Given the description of an element on the screen output the (x, y) to click on. 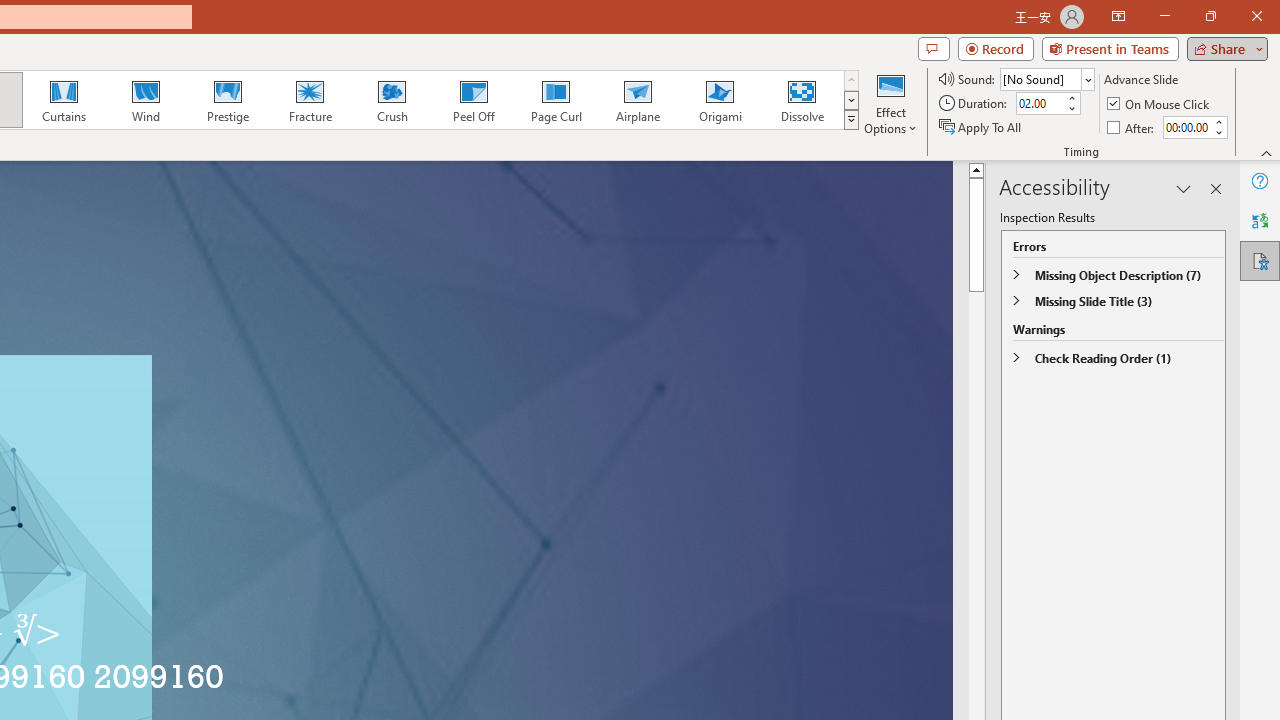
Apply To All (981, 126)
Airplane (637, 100)
Peel Off (473, 100)
Fracture (309, 100)
Prestige (227, 100)
